Given the description of an element on the screen output the (x, y) to click on. 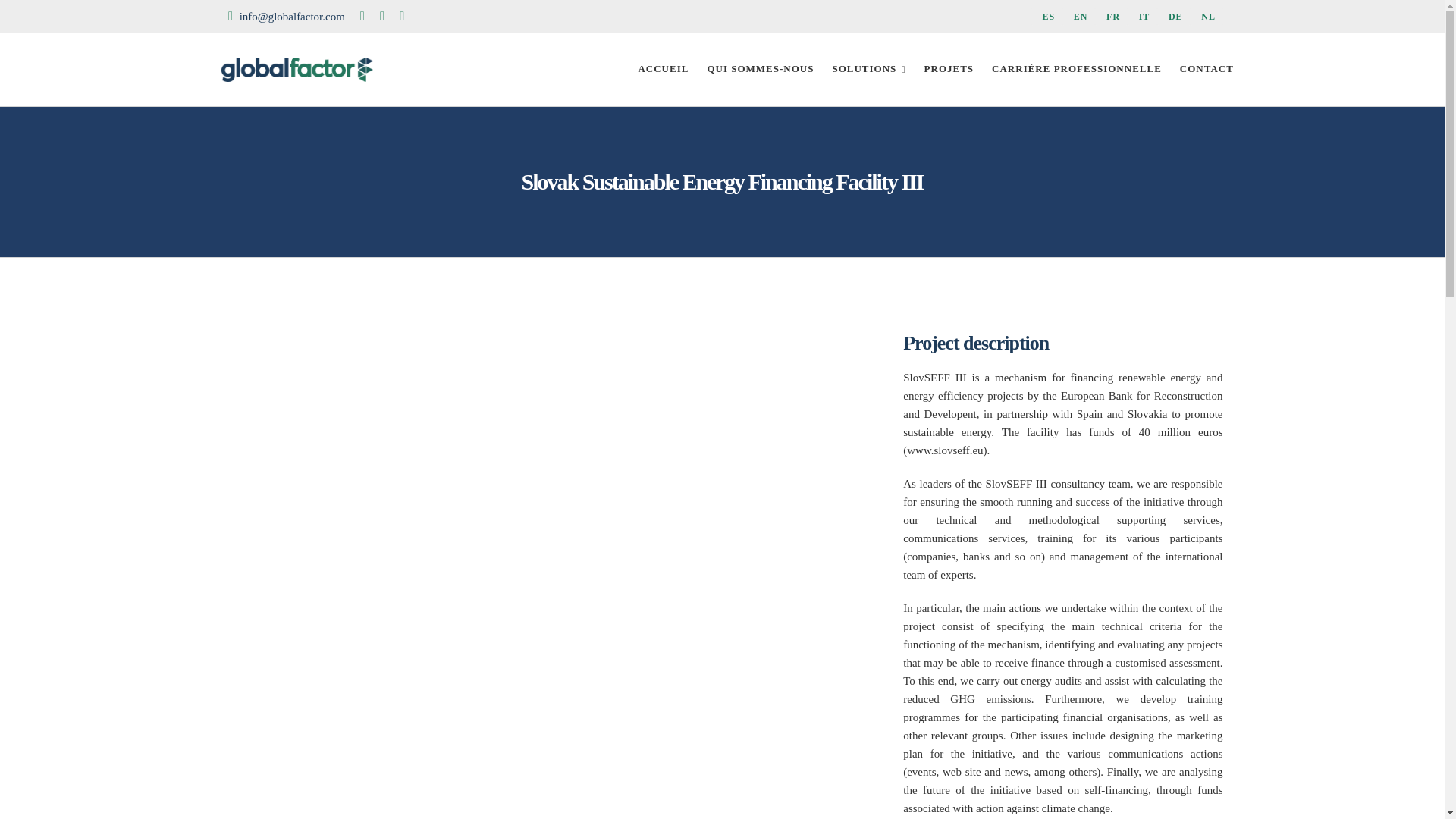
SOLUTIONS (868, 69)
ACCUEIL (662, 69)
DE (1173, 16)
ES (1046, 16)
QUI SOMMES-NOUS (759, 69)
EN (1078, 16)
ES (1046, 16)
DE (1173, 16)
FR (1110, 16)
IT (1141, 16)
CONTACT (1206, 69)
NL (1207, 16)
IT (1141, 16)
FR (1110, 16)
